Given the description of an element on the screen output the (x, y) to click on. 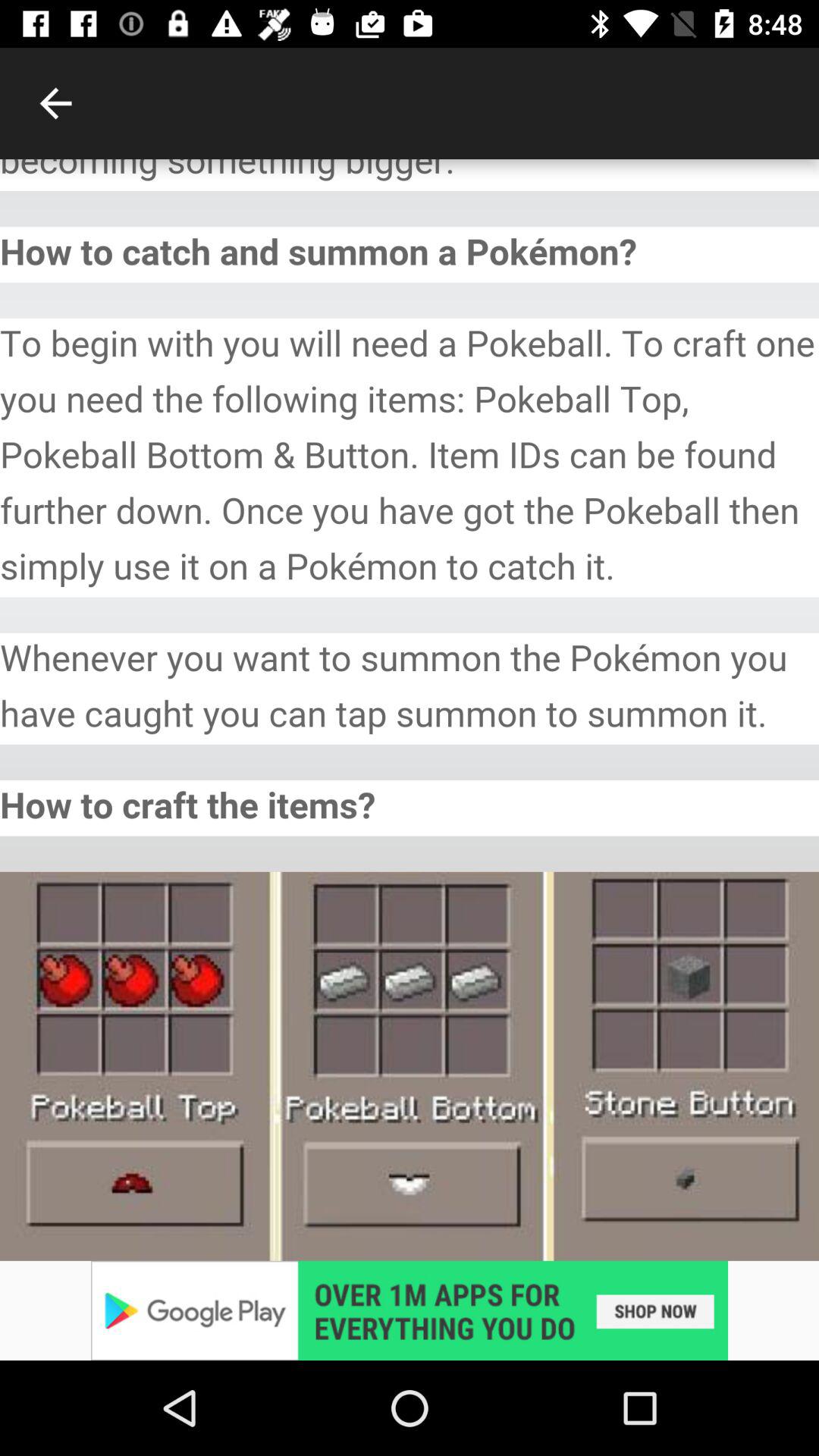
just play (409, 1310)
